Given the description of an element on the screen output the (x, y) to click on. 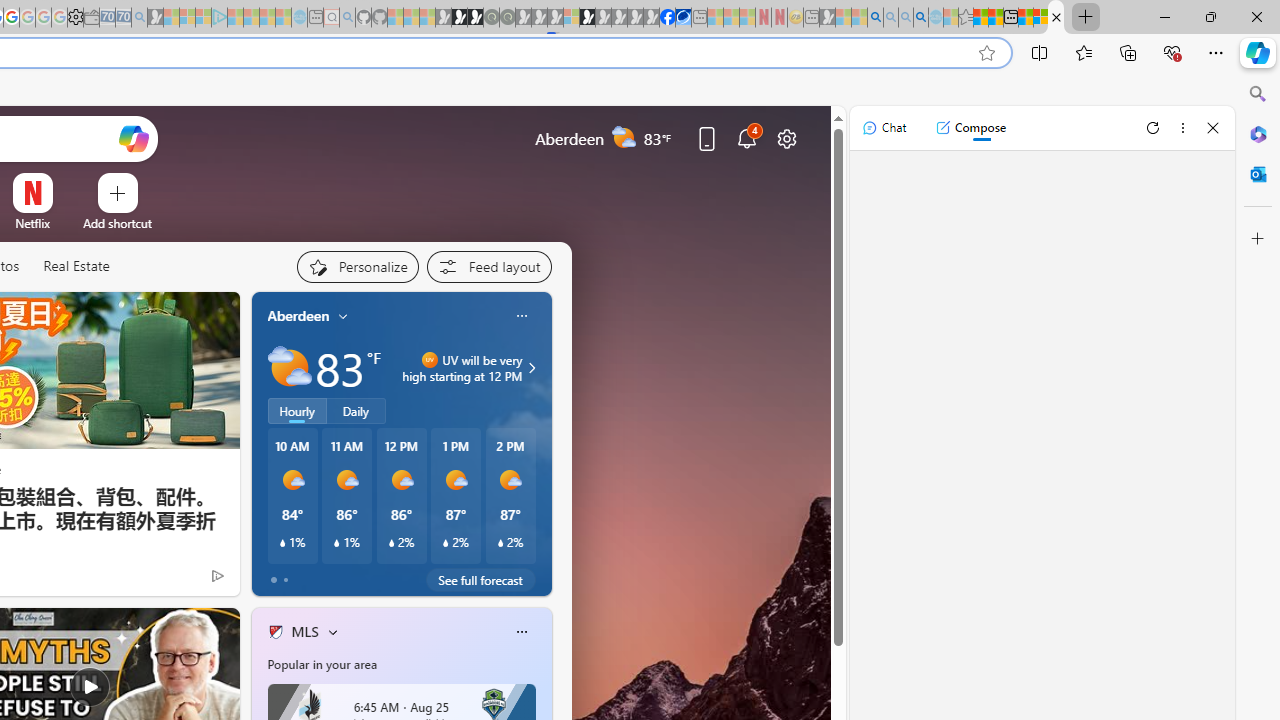
Class: weather-current-precipitation-glyph (500, 543)
Add a site (117, 223)
github - Search - Sleeping (347, 17)
Google Chrome Internet Browser Download - Search Images (920, 17)
Chat (884, 128)
